Given the description of an element on the screen output the (x, y) to click on. 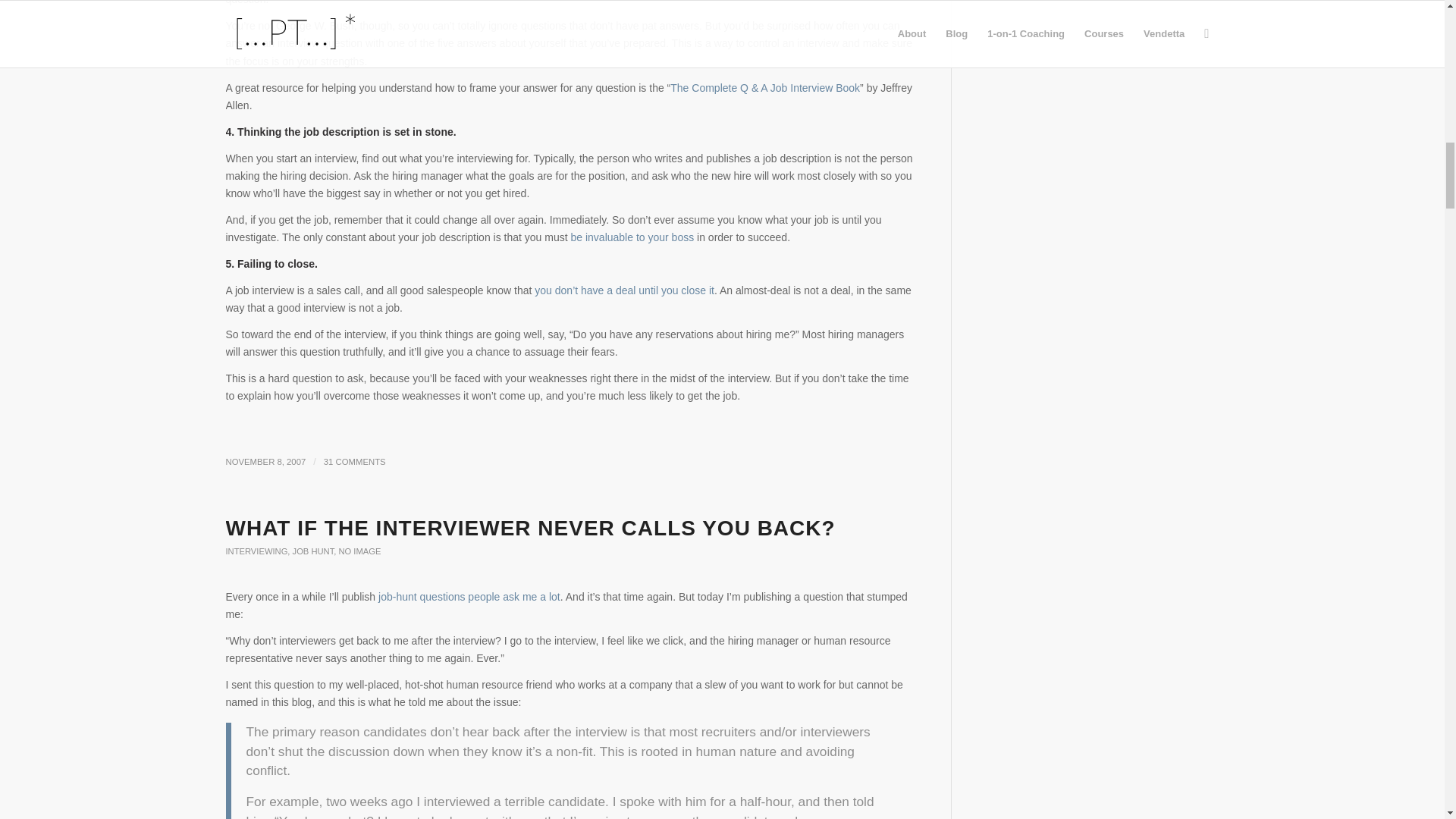
be invaluable to your boss (632, 236)
JOB HUNT (313, 551)
job-hunt questions people ask me a lot (469, 596)
INTERVIEWING (256, 551)
NO IMAGE (358, 551)
WHAT IF THE INTERVIEWER NEVER CALLS YOU BACK? (530, 527)
31 COMMENTS (354, 461)
